Given the description of an element on the screen output the (x, y) to click on. 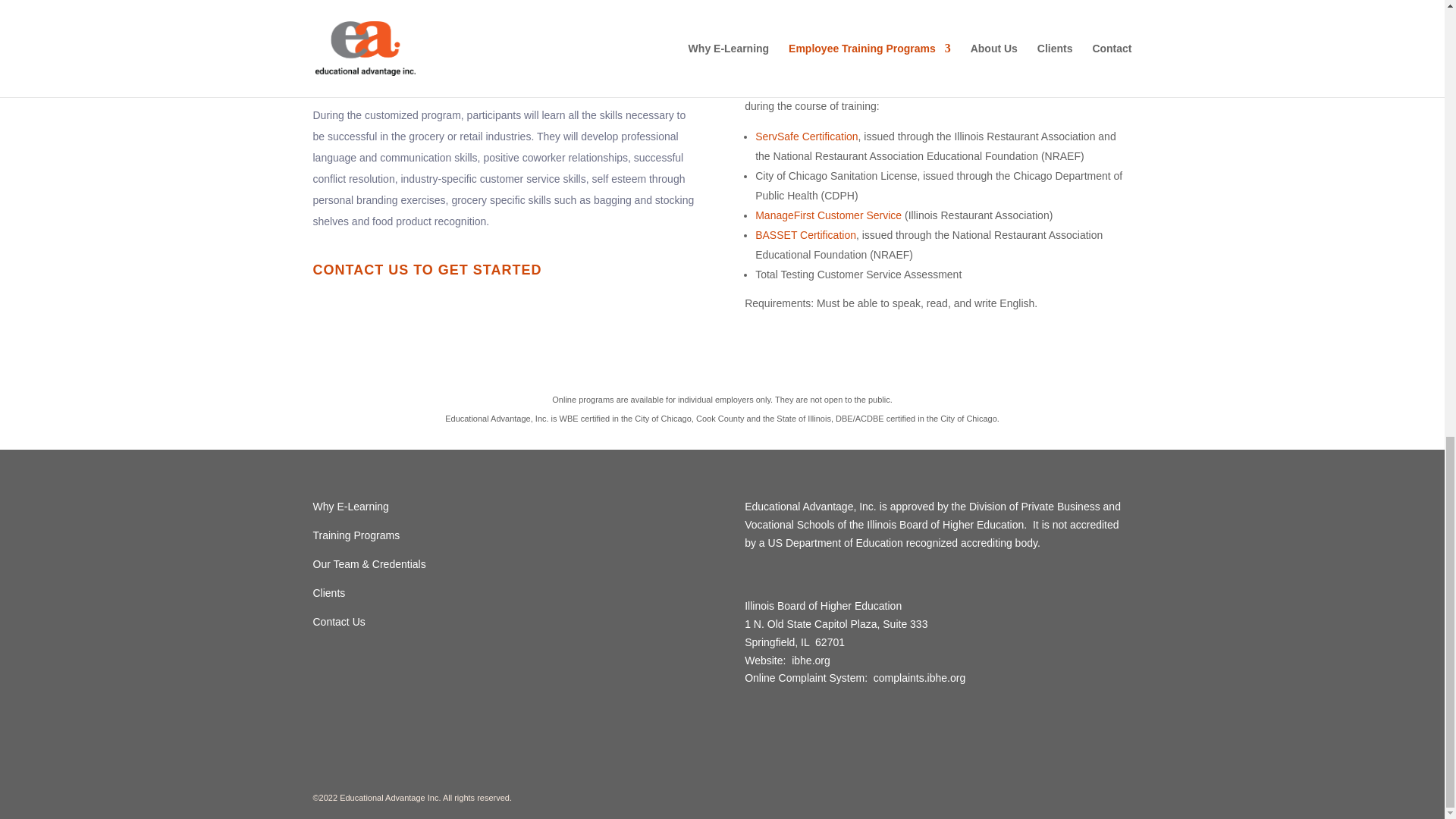
Training Programs (355, 535)
Contact Us (339, 621)
ServSafe, and BASSET certifications (495, 51)
ManageFirst Customer Service (828, 215)
CONTACT US TO GET STARTED (427, 269)
ManageFirst Customer Service Training (533, 40)
BASSET Certification (805, 234)
ServSafe Certification (806, 136)
Why E-Learning (350, 506)
Clients (329, 592)
